Given the description of an element on the screen output the (x, y) to click on. 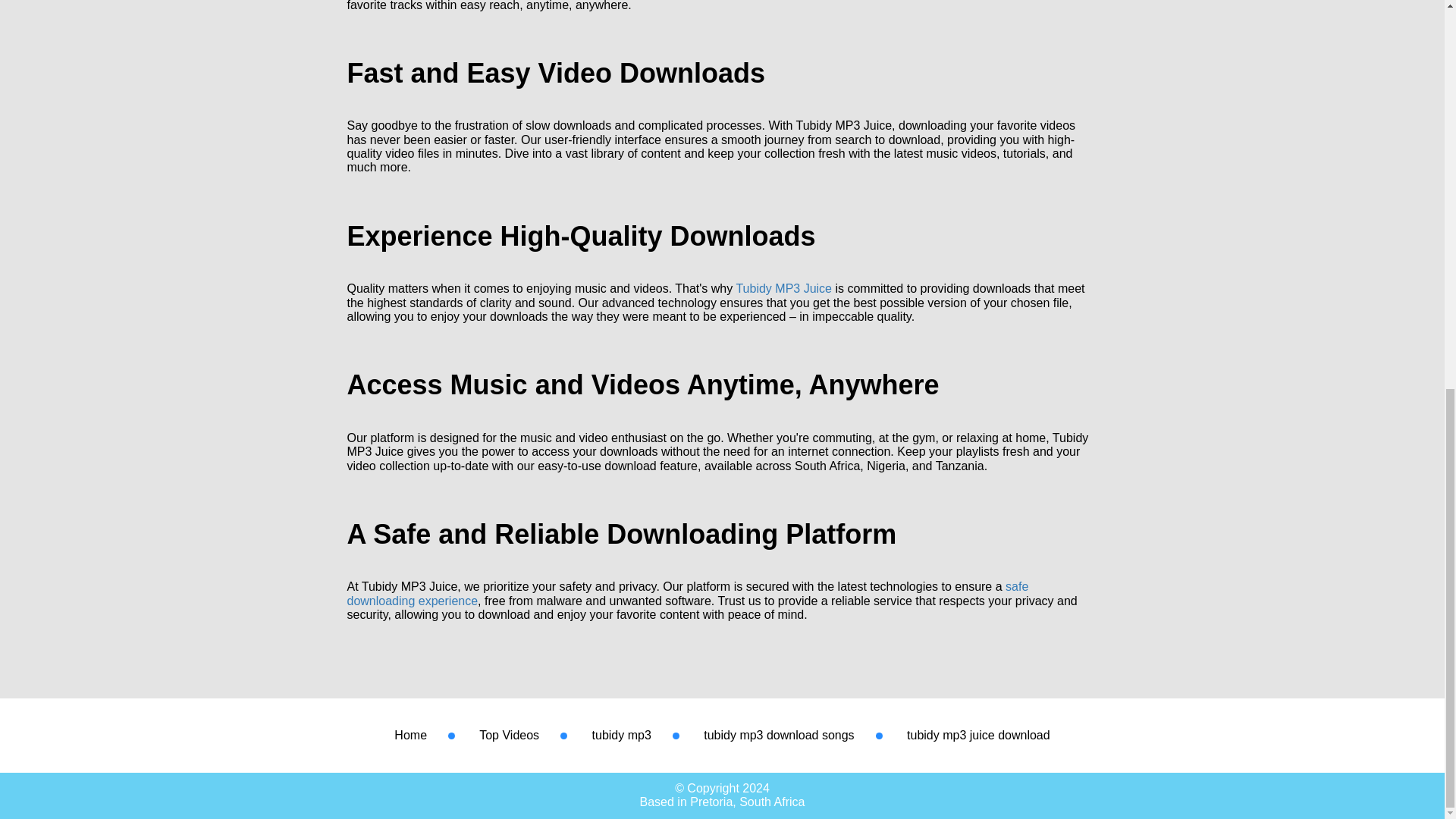
Top Videos (508, 735)
tubidy mp3 download songs (778, 735)
tubidy mp3 (621, 735)
safe downloading experience (688, 592)
Tubidy MP3 Juice (783, 287)
Home (410, 735)
tubidy mp3 juice download (978, 735)
